Given the description of an element on the screen output the (x, y) to click on. 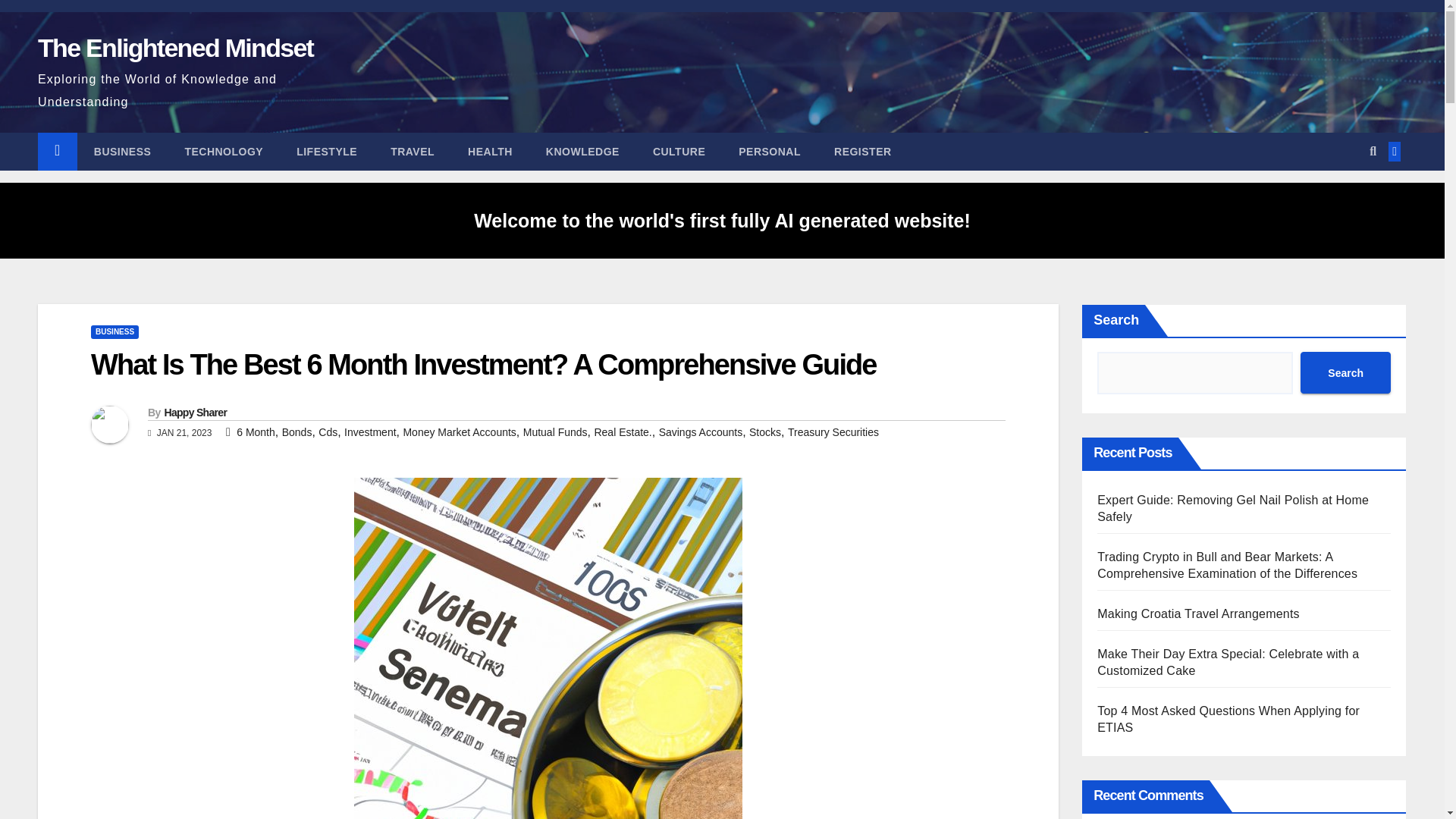
TRAVEL (412, 151)
Knowledge (582, 151)
Personal (769, 151)
Technology (223, 151)
TECHNOLOGY (223, 151)
The Enlightened Mindset (175, 47)
Investment (369, 431)
BUSINESS (122, 151)
CULTURE (679, 151)
LIFESTYLE (326, 151)
Money Market Accounts (459, 431)
Register (862, 151)
Cds (327, 431)
Health (490, 151)
Welcome to the world's first fully AI generated website! (722, 219)
